Given the description of an element on the screen output the (x, y) to click on. 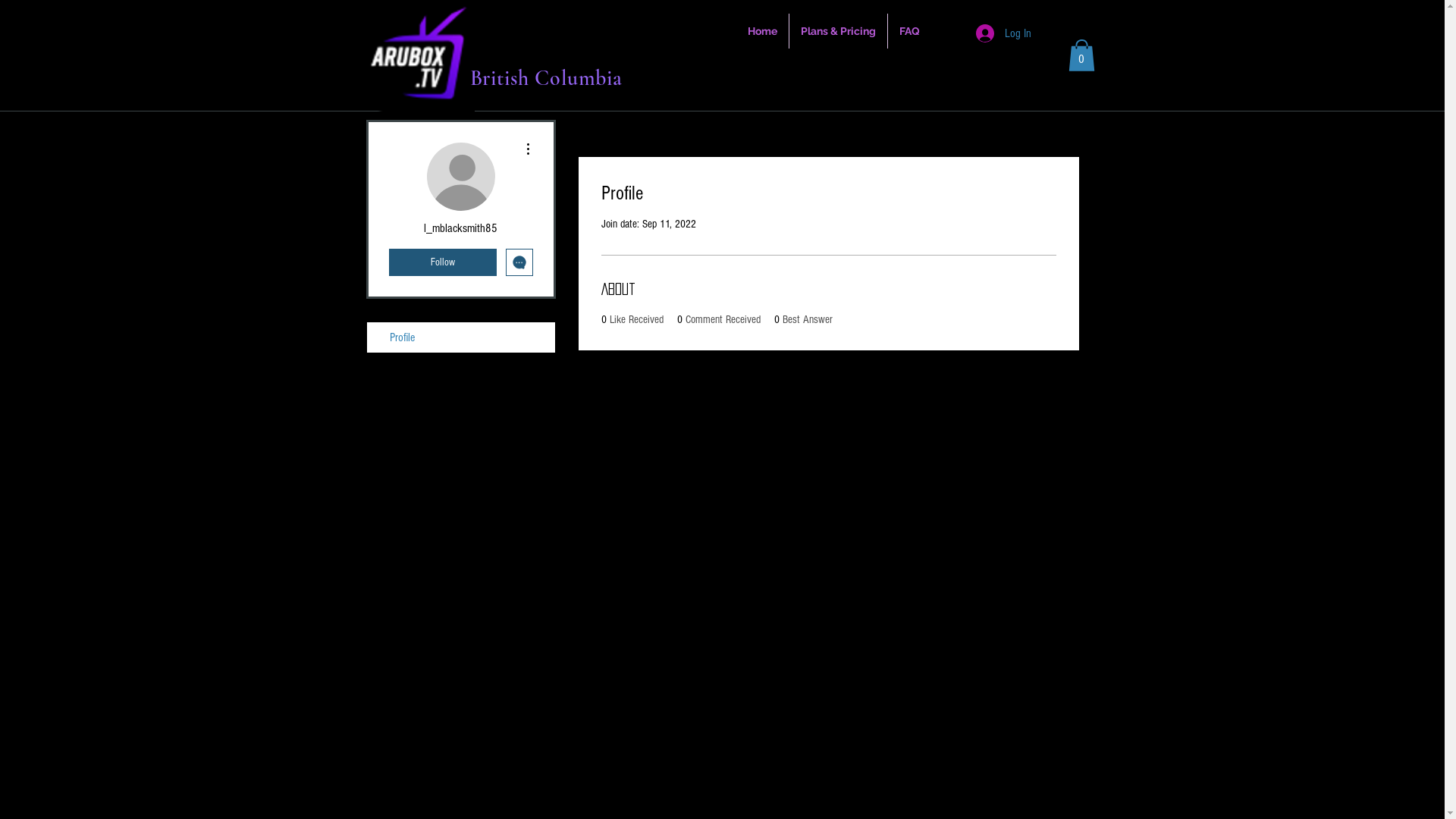
Follow Element type: text (441, 262)
0 Element type: text (1080, 55)
Profile Element type: text (461, 337)
Log In Element type: text (1002, 33)
Home Element type: text (761, 30)
Visitor Analytics Element type: hover (1442, 4)
FAQ Element type: text (908, 30)
Plans & Pricing Element type: text (837, 30)
